Given the description of an element on the screen output the (x, y) to click on. 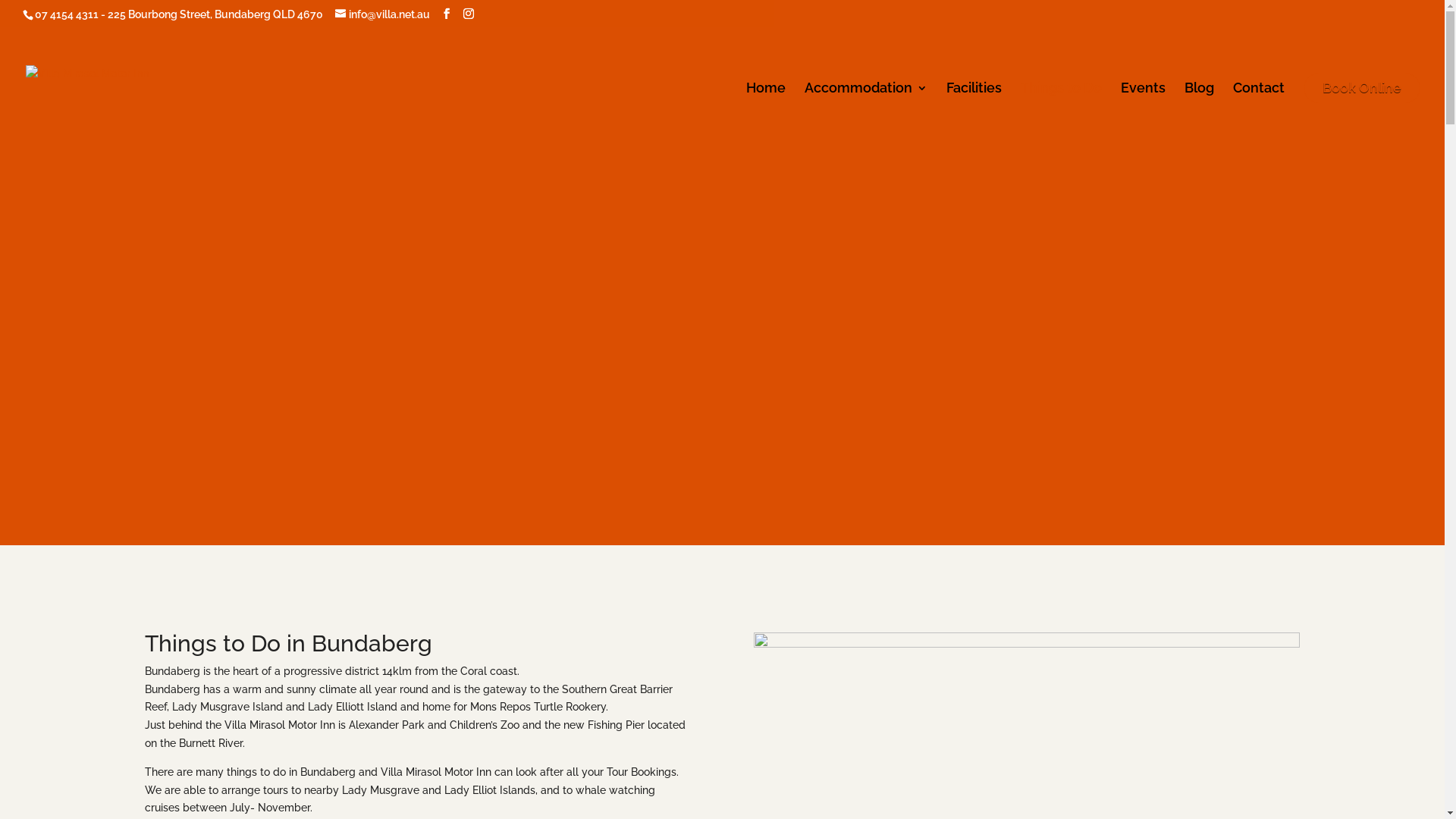
Book Online Element type: text (1361, 87)
Contact Element type: text (1258, 110)
Facilities Element type: text (973, 110)
Things to Do Element type: text (1060, 110)
Events Element type: text (1142, 110)
exterior Element type: hover (1026, 643)
Blog Element type: text (1199, 110)
07 4154 4311 Element type: text (66, 13)
Accommodation Element type: text (865, 110)
info@villa.net.au Element type: text (382, 13)
Home Element type: text (765, 110)
